Given the description of an element on the screen output the (x, y) to click on. 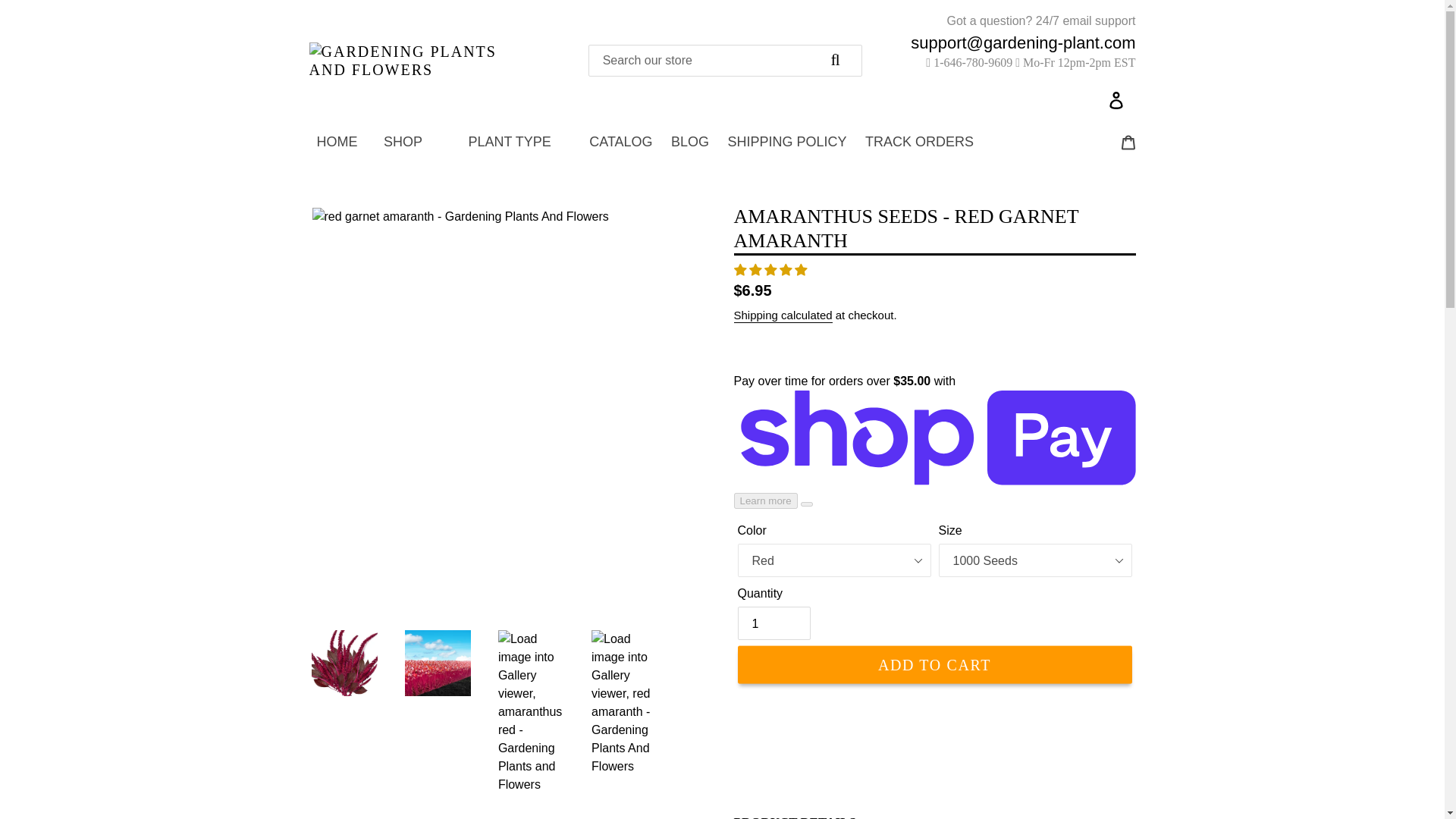
SHIPPING POLICY (787, 141)
BLOG (690, 141)
Log in (1117, 95)
HOME (337, 141)
1 (772, 622)
TRACK ORDERS (919, 141)
CATALOG (620, 141)
